Given the description of an element on the screen output the (x, y) to click on. 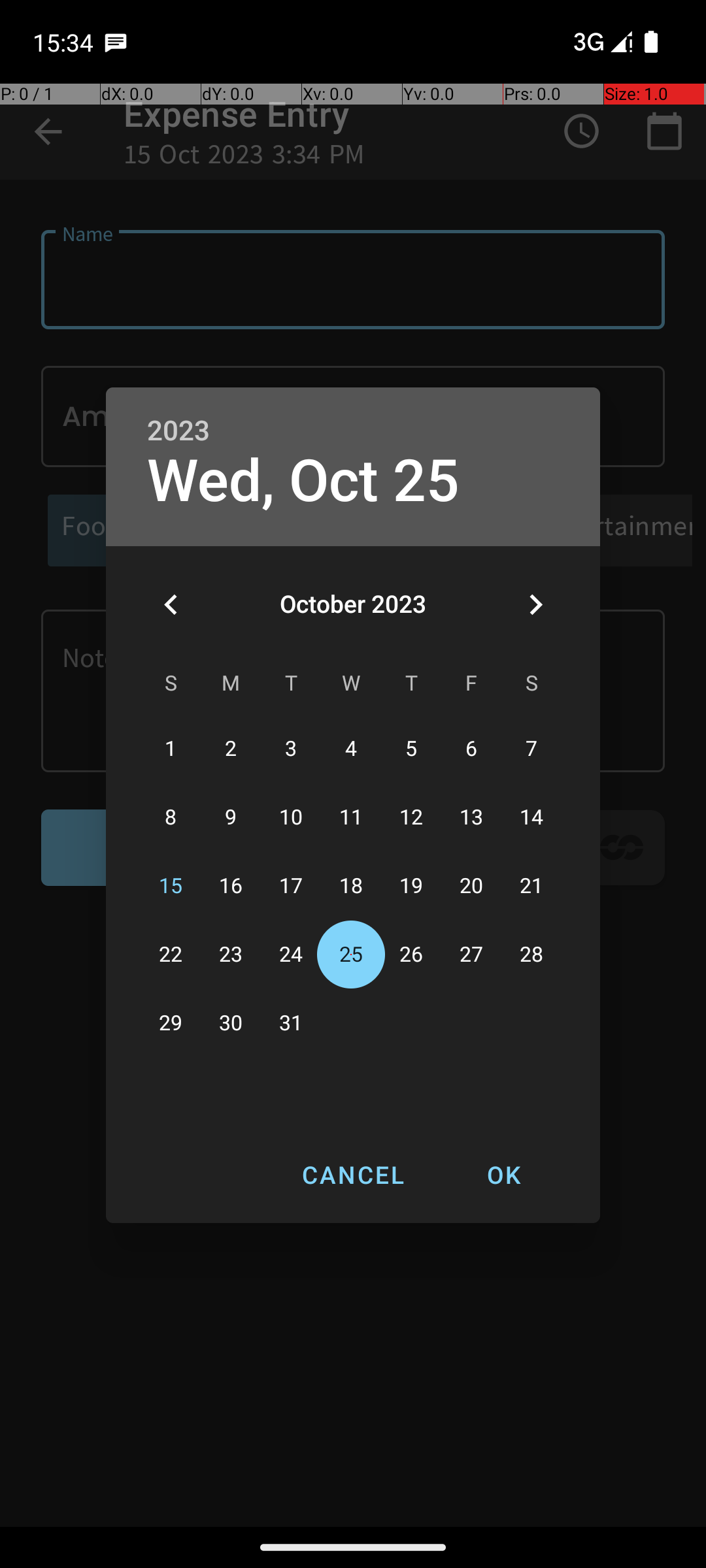
Wed, Oct 25 Element type: android.widget.TextView (303, 480)
